Given the description of an element on the screen output the (x, y) to click on. 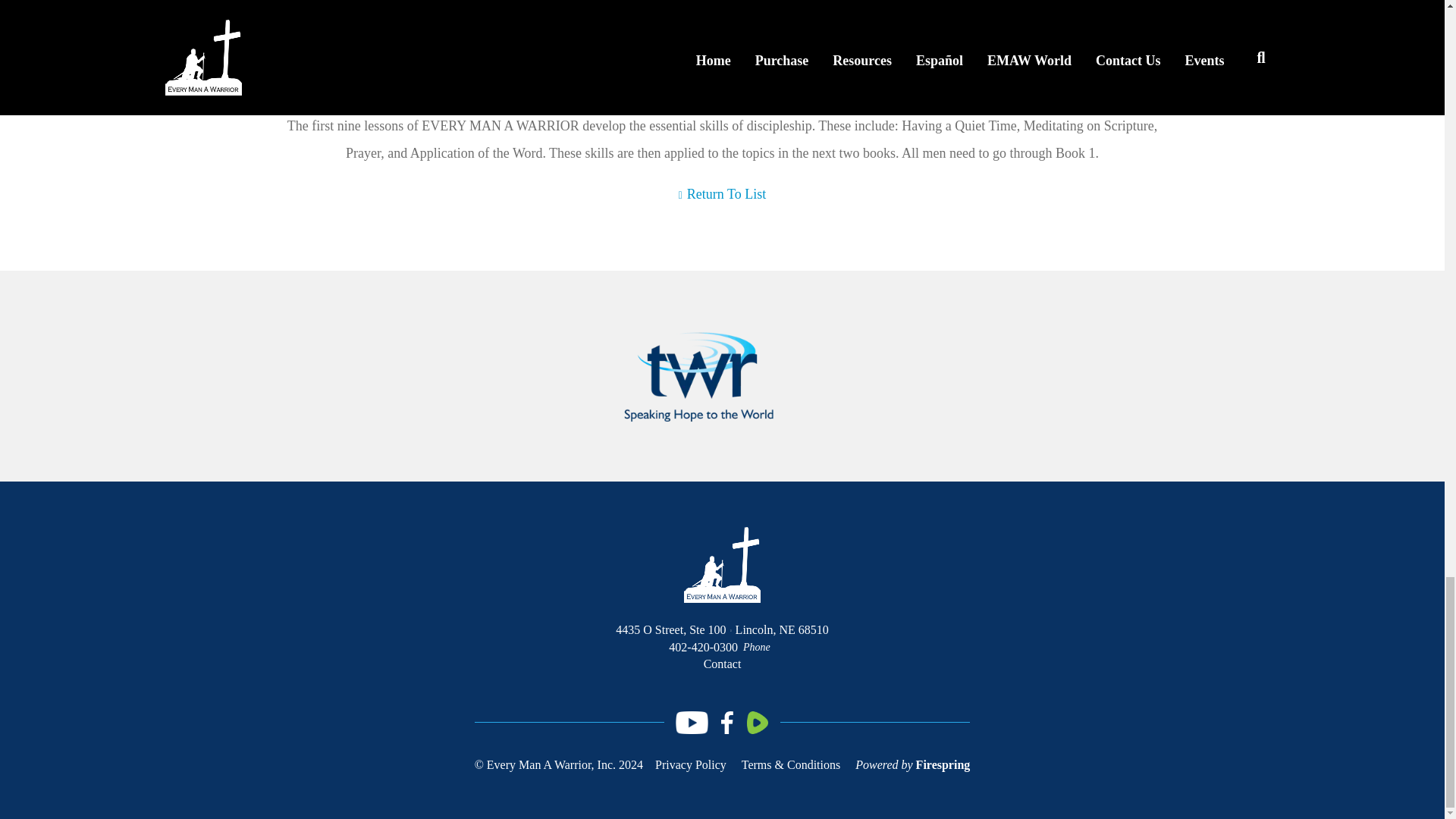
Contact (722, 663)
logo (722, 564)
402-420-0300 (703, 646)
Privacy Policy (690, 764)
Return To List (722, 193)
